Given the description of an element on the screen output the (x, y) to click on. 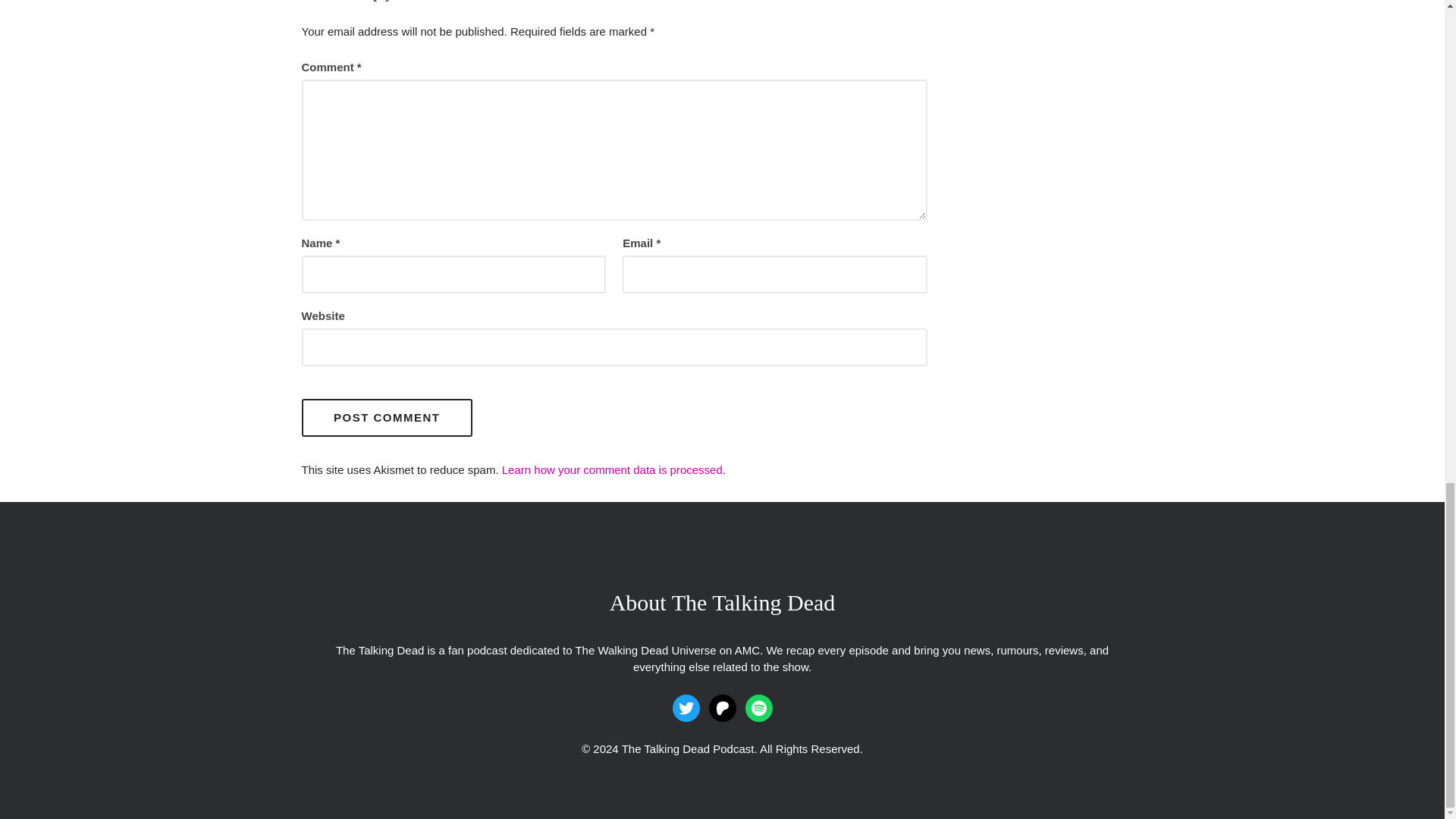
Post Comment (387, 417)
